Given the description of an element on the screen output the (x, y) to click on. 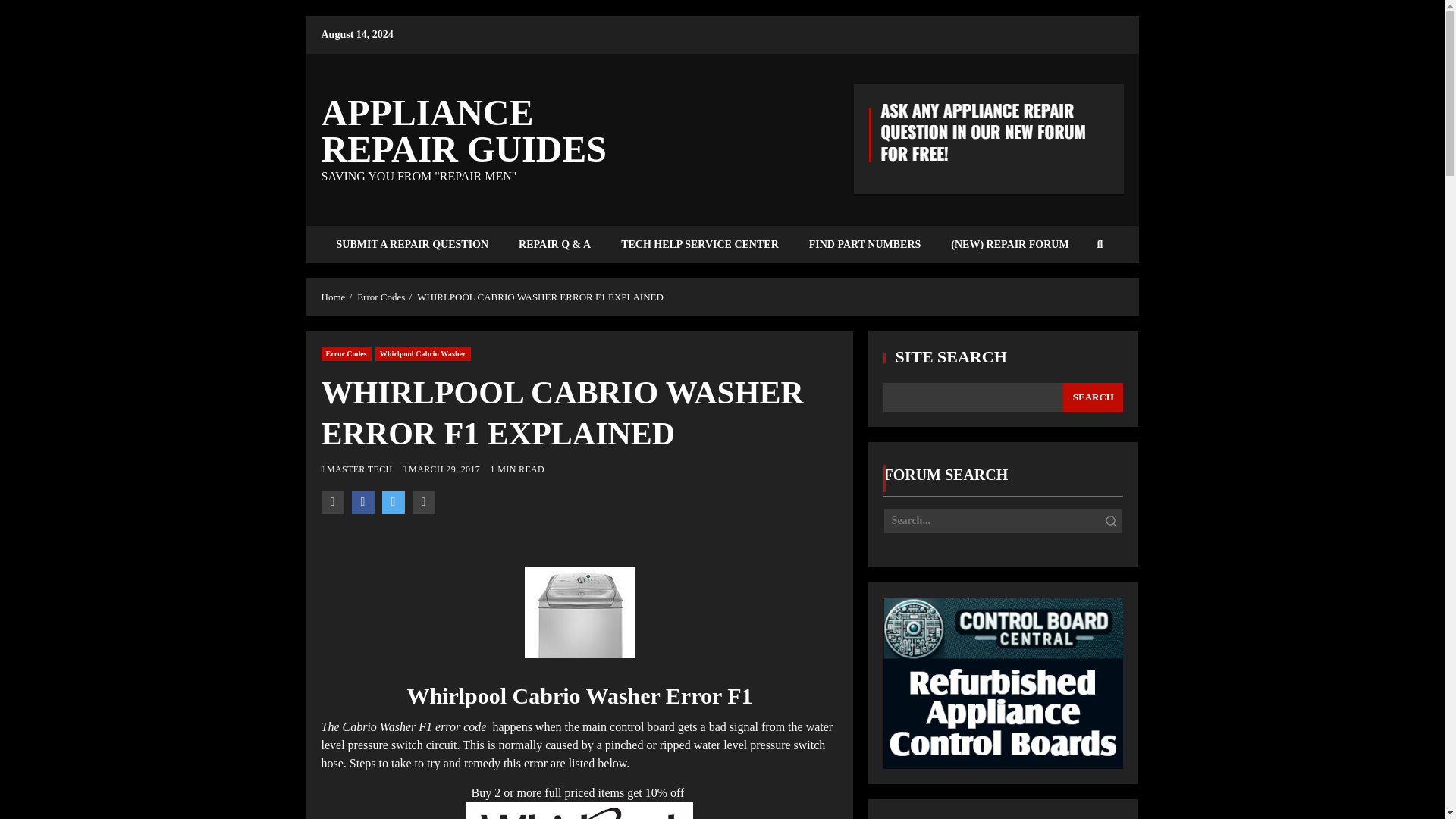
Whirlpool Cabrio Washer (422, 352)
MASTER TECH (360, 469)
APPLIANCE REPAIR GUIDES (464, 130)
Error Codes (380, 296)
TECH HELP SERVICE CENTER (699, 244)
SUBMIT A REPAIR QUESTION (412, 244)
Error Codes (346, 352)
Home (333, 296)
WHIRLPOOL CABRIO WASHER ERROR F1 EXPLAINED (539, 296)
